Given the description of an element on the screen output the (x, y) to click on. 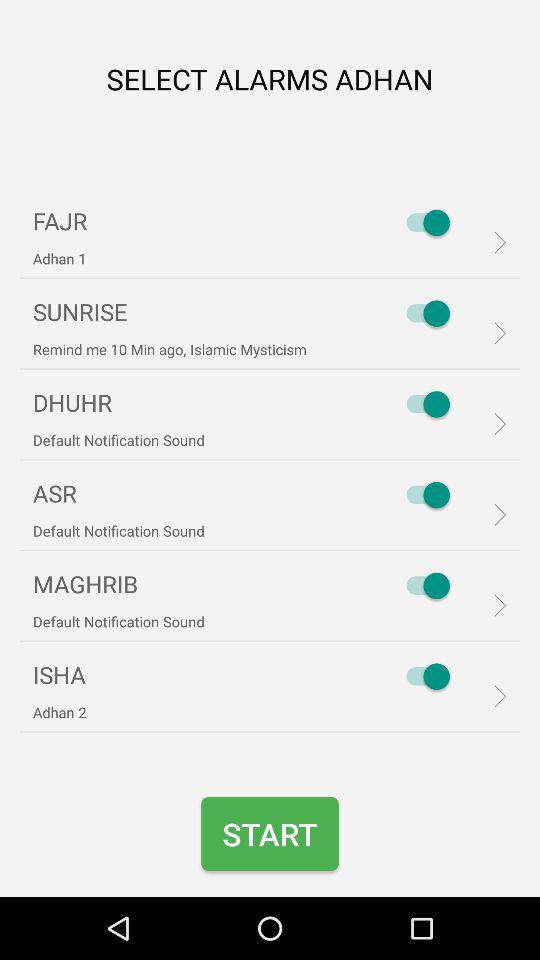
turn off the icon to the right of default notification sound icon (423, 495)
